Given the description of an element on the screen output the (x, y) to click on. 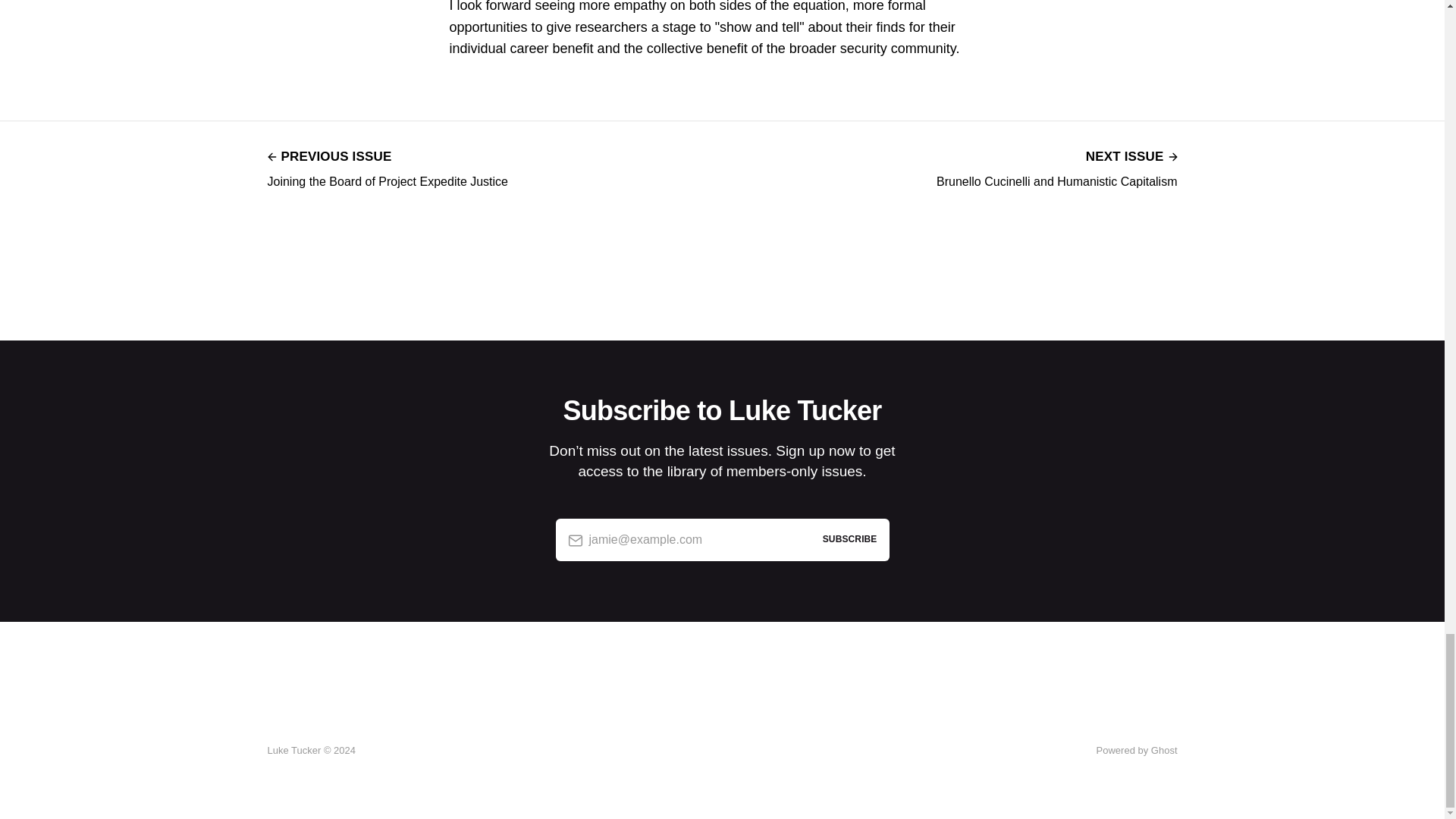
Powered by Ghost (387, 167)
